Given the description of an element on the screen output the (x, y) to click on. 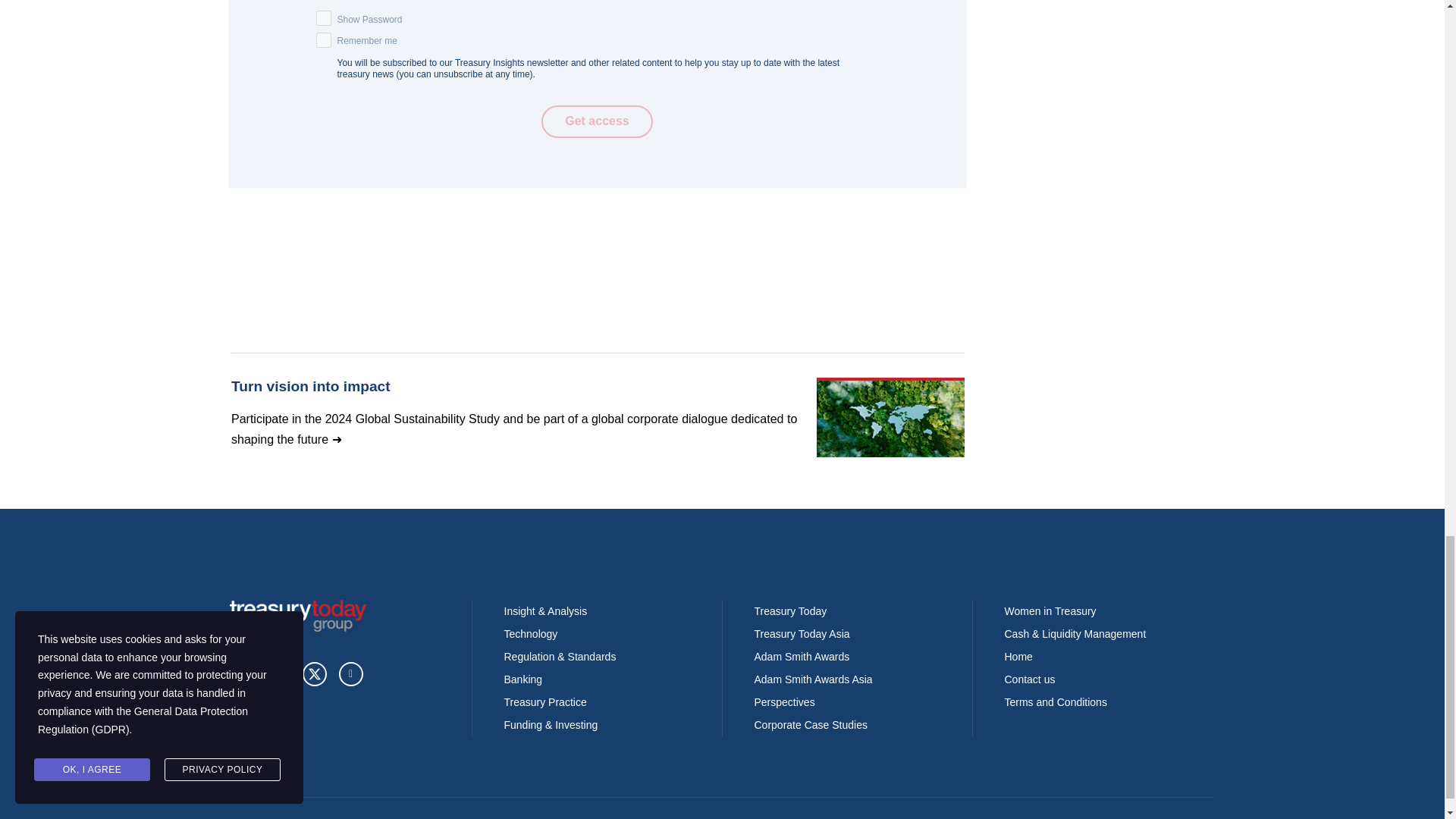
on (322, 39)
3rd party ad content (596, 409)
on (322, 17)
